Given the description of an element on the screen output the (x, y) to click on. 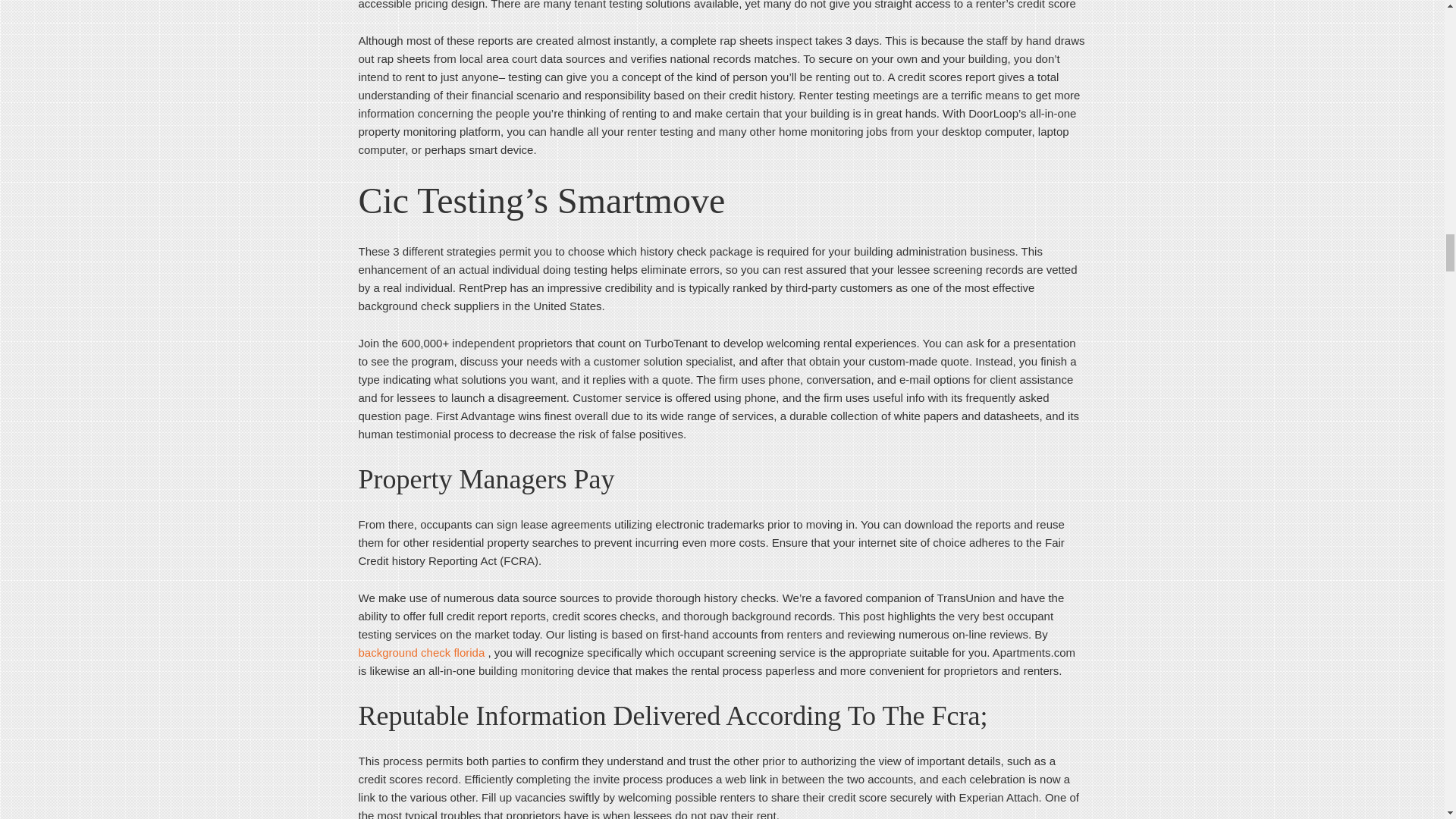
background check florida (421, 652)
